Given the description of an element on the screen output the (x, y) to click on. 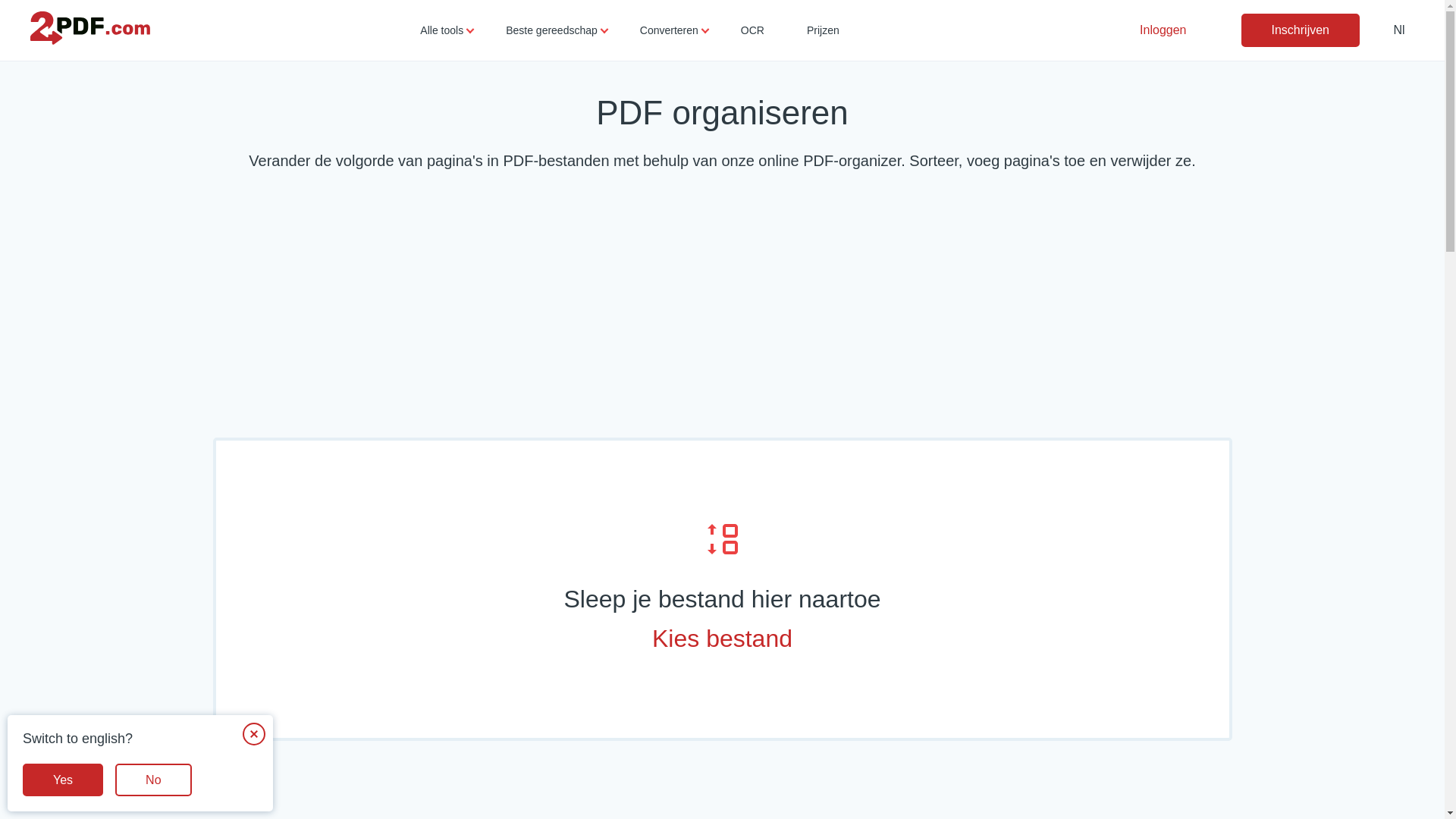
Yes Element type: text (62, 779)
Inschrijven Element type: text (1299, 29)
Prijzen Element type: text (822, 30)
OCR Element type: text (752, 30)
Inloggen Element type: text (1162, 29)
Close the window Element type: hover (253, 733)
Advertisement Element type: hover (721, 308)
No Element type: text (153, 779)
